Given the description of an element on the screen output the (x, y) to click on. 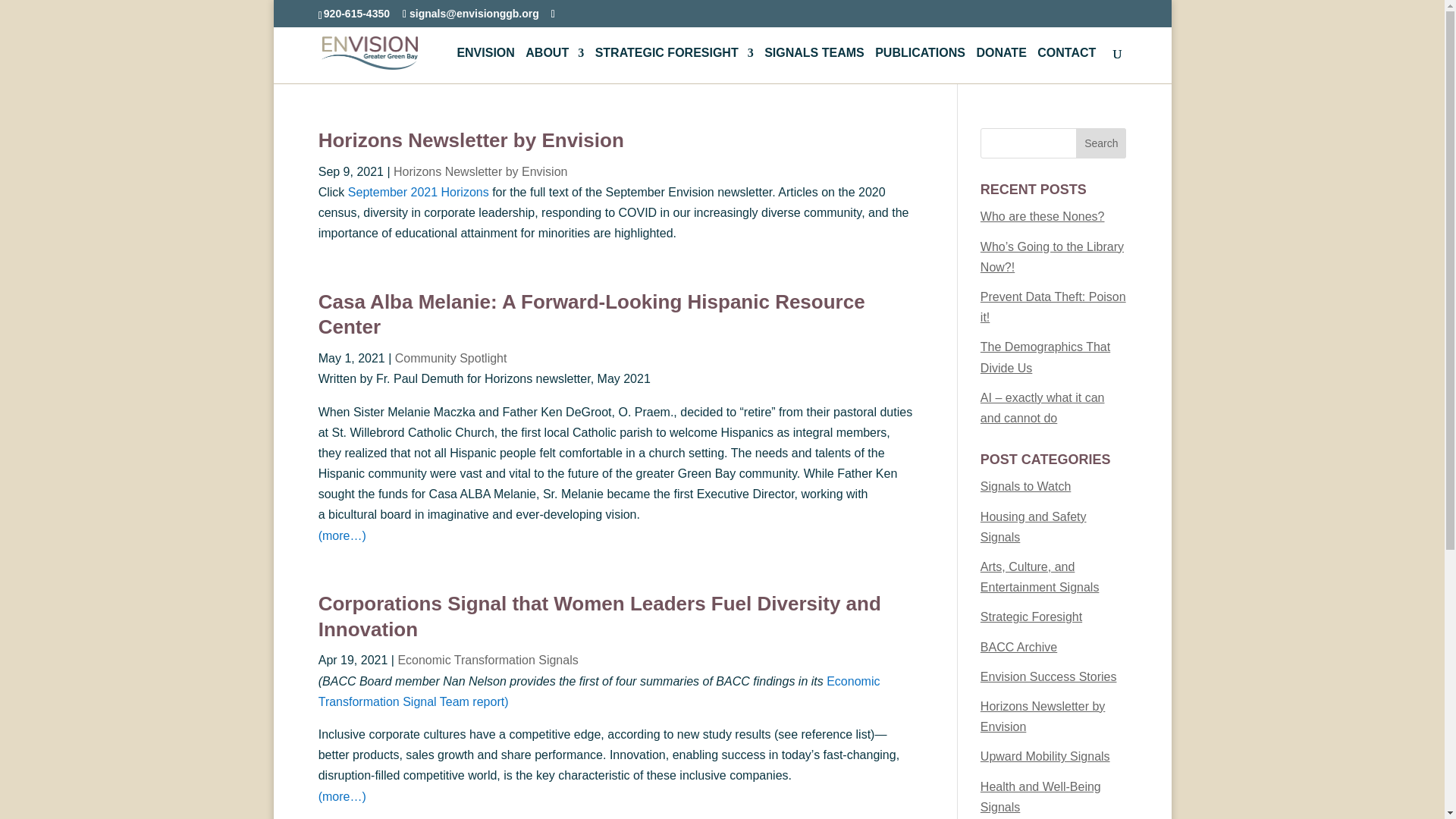
DONATE (1000, 65)
Community Spotlight (450, 358)
Search (1100, 142)
September 2021 Horizons (418, 192)
Horizons Newsletter by Envision (480, 171)
Horizons Newsletter by Envision (471, 139)
ABOUT (554, 65)
CONTACT (1066, 65)
Search (1100, 142)
